Given the description of an element on the screen output the (x, y) to click on. 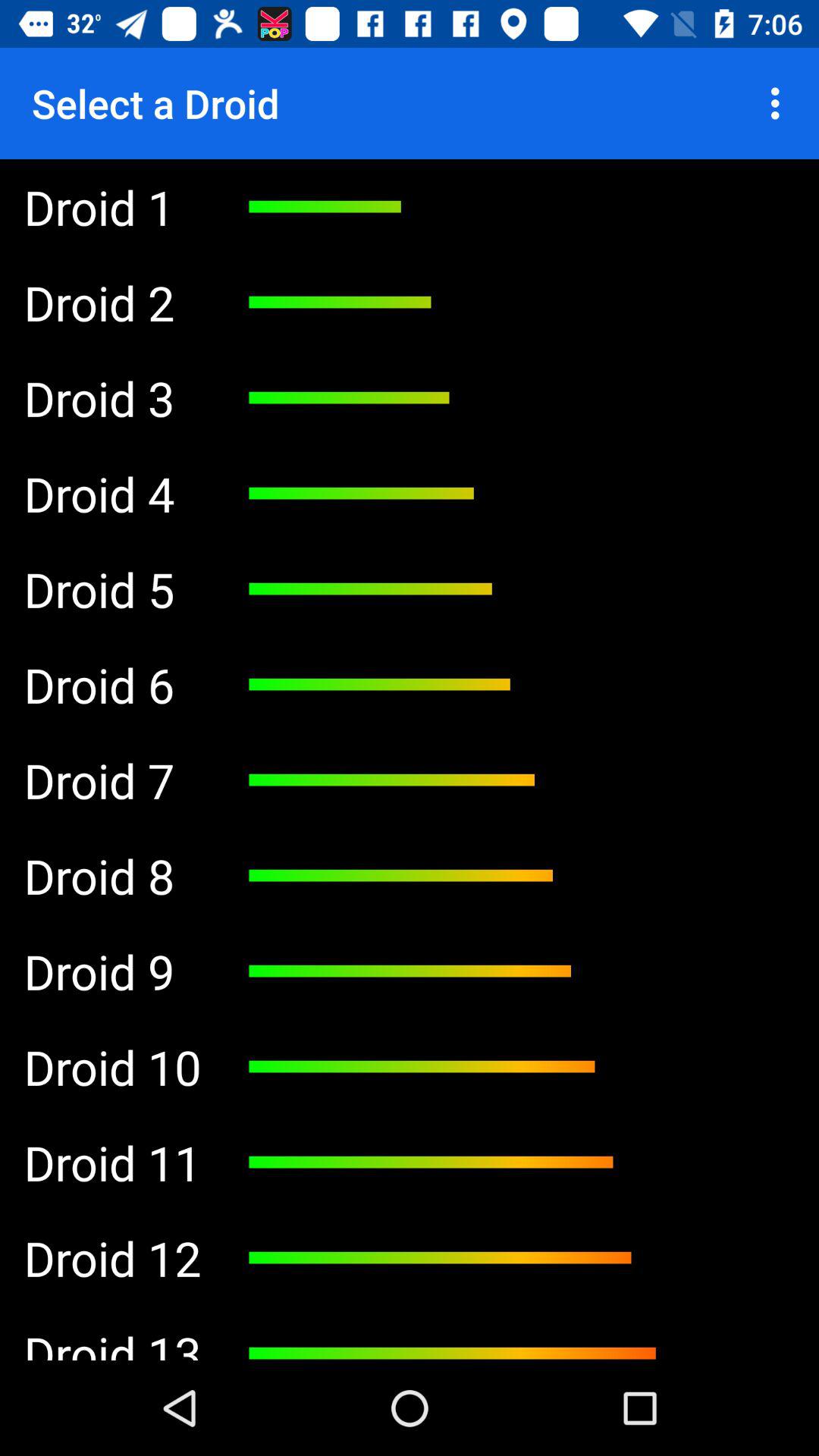
open the item below select a droid app (112, 206)
